Given the description of an element on the screen output the (x, y) to click on. 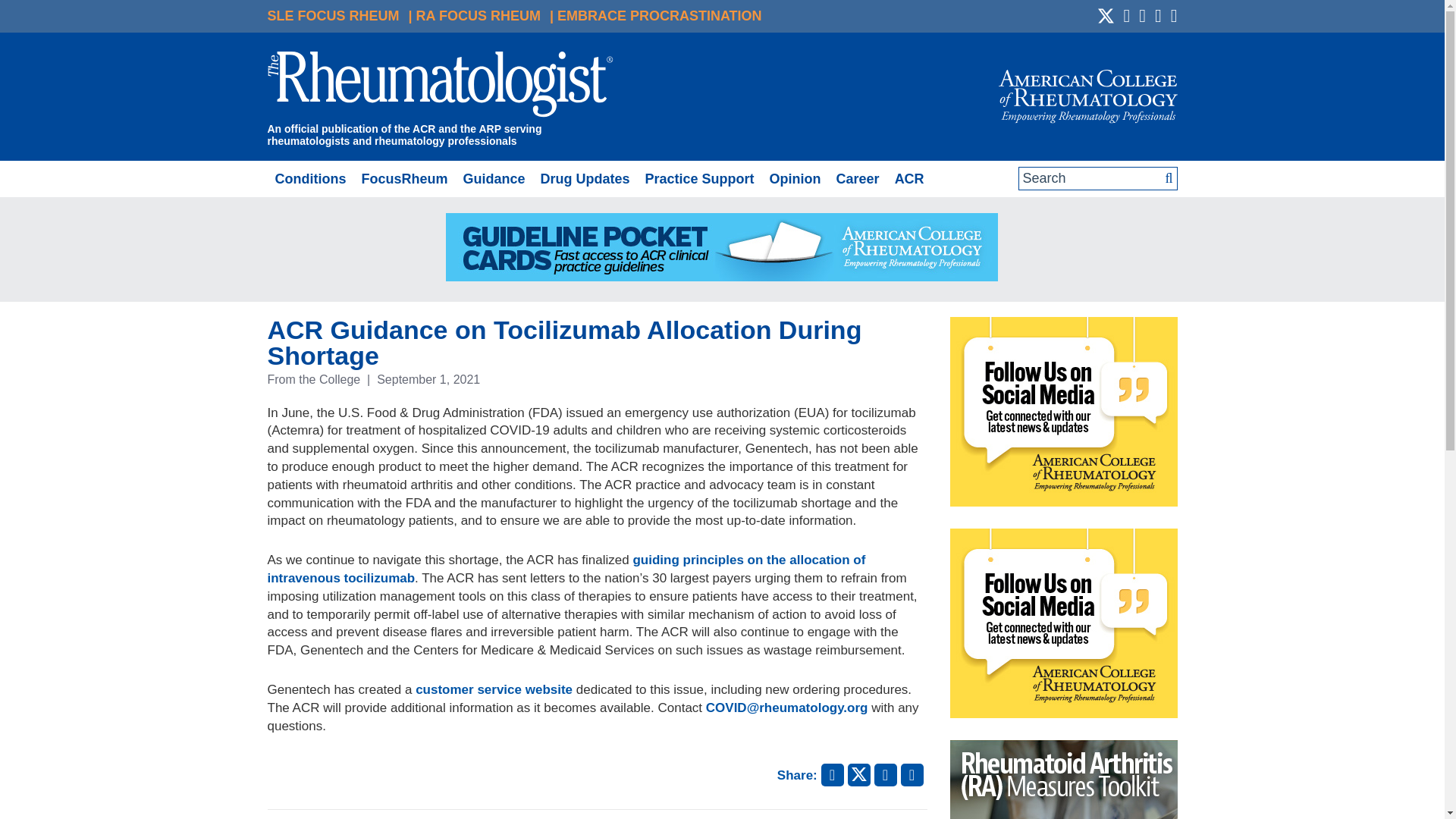
Conditions (309, 178)
The Rheumatologist (439, 86)
FocusRheum (403, 178)
Guidance (493, 178)
SLE FOCUS RHEUM (332, 15)
